Given the description of an element on the screen output the (x, y) to click on. 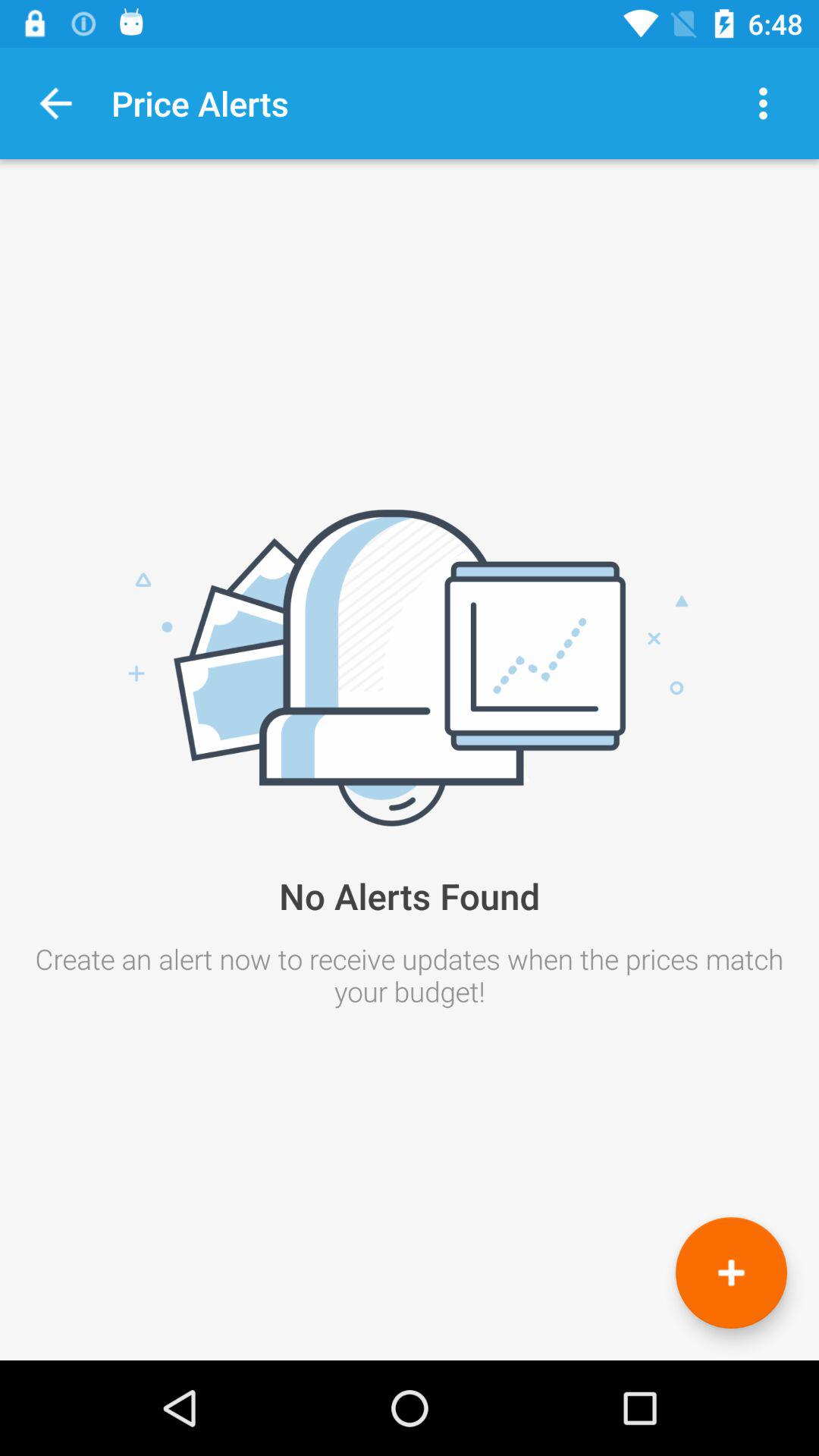
settings (763, 103)
